Given the description of an element on the screen output the (x, y) to click on. 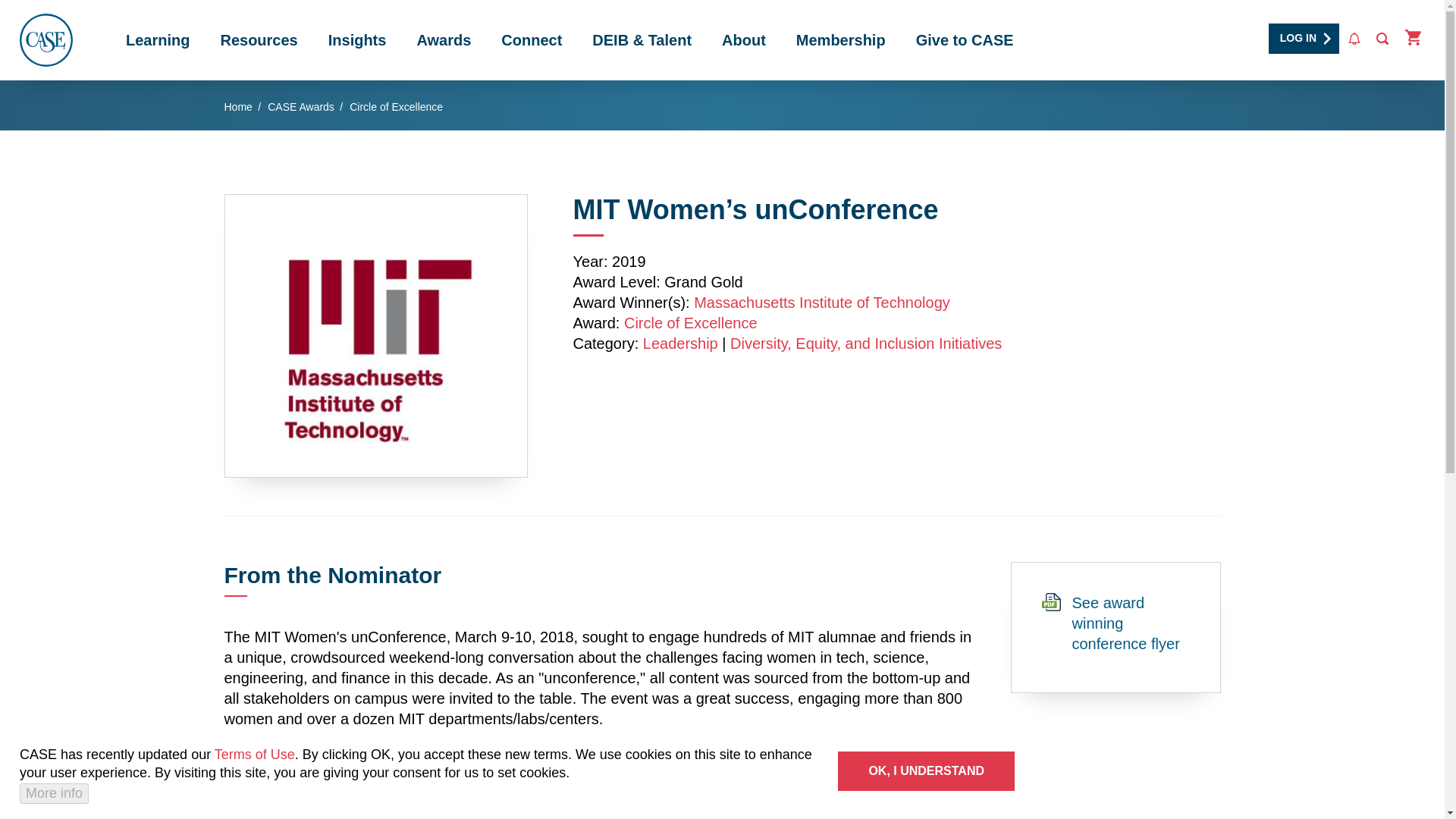
Learning (157, 40)
Learn about who we are. (743, 40)
Skip to main content (624, 4)
Resources (259, 40)
Home (46, 39)
Discover CASE conferences, events, and special programs. (157, 40)
